Given the description of an element on the screen output the (x, y) to click on. 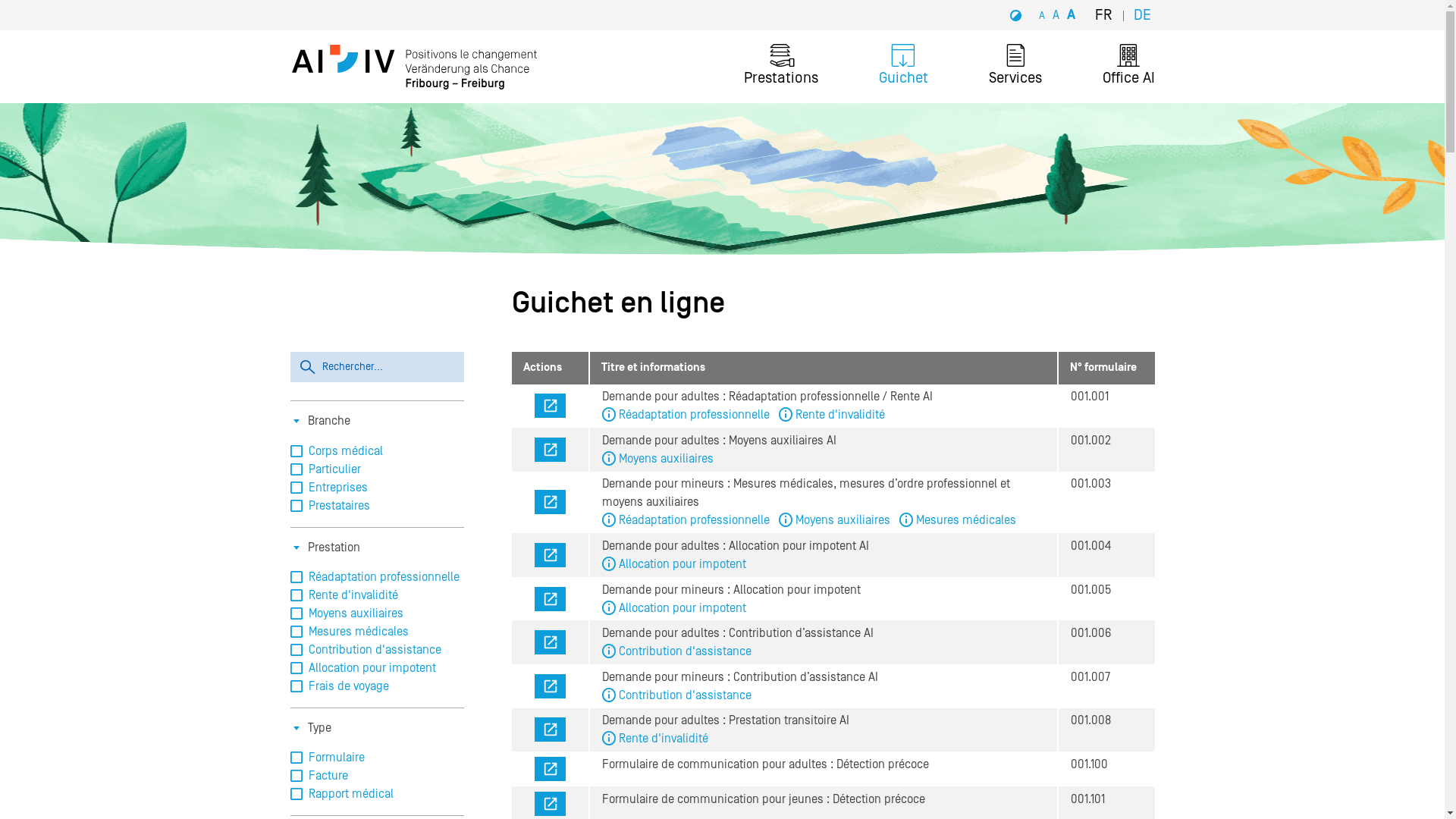
FR Element type: text (1108, 15)
Guichet Element type: text (902, 66)
Accueil Element type: hover (413, 65)
Menu Element type: text (289, 0)
Prestations Element type: text (780, 66)
Branche Element type: text (328, 420)
Services Element type: text (1014, 66)
Type Element type: text (319, 727)
Allocation pour impotent Element type: text (677, 608)
Contribution d'assistance Element type: text (679, 651)
Allocation pour impotent Element type: text (677, 564)
Office AI Element type: text (1128, 66)
Prestation Element type: text (333, 546)
DE Element type: text (1141, 15)
A
Diminuer la taille du texte Element type: text (1041, 14)
Contribution d'assistance Element type: text (679, 695)
A
Augmenter la taille du texte Element type: text (1071, 14)
Moyens auxiliaires Element type: text (660, 458)
Moyens auxiliaires Element type: text (838, 520)
